Given the description of an element on the screen output the (x, y) to click on. 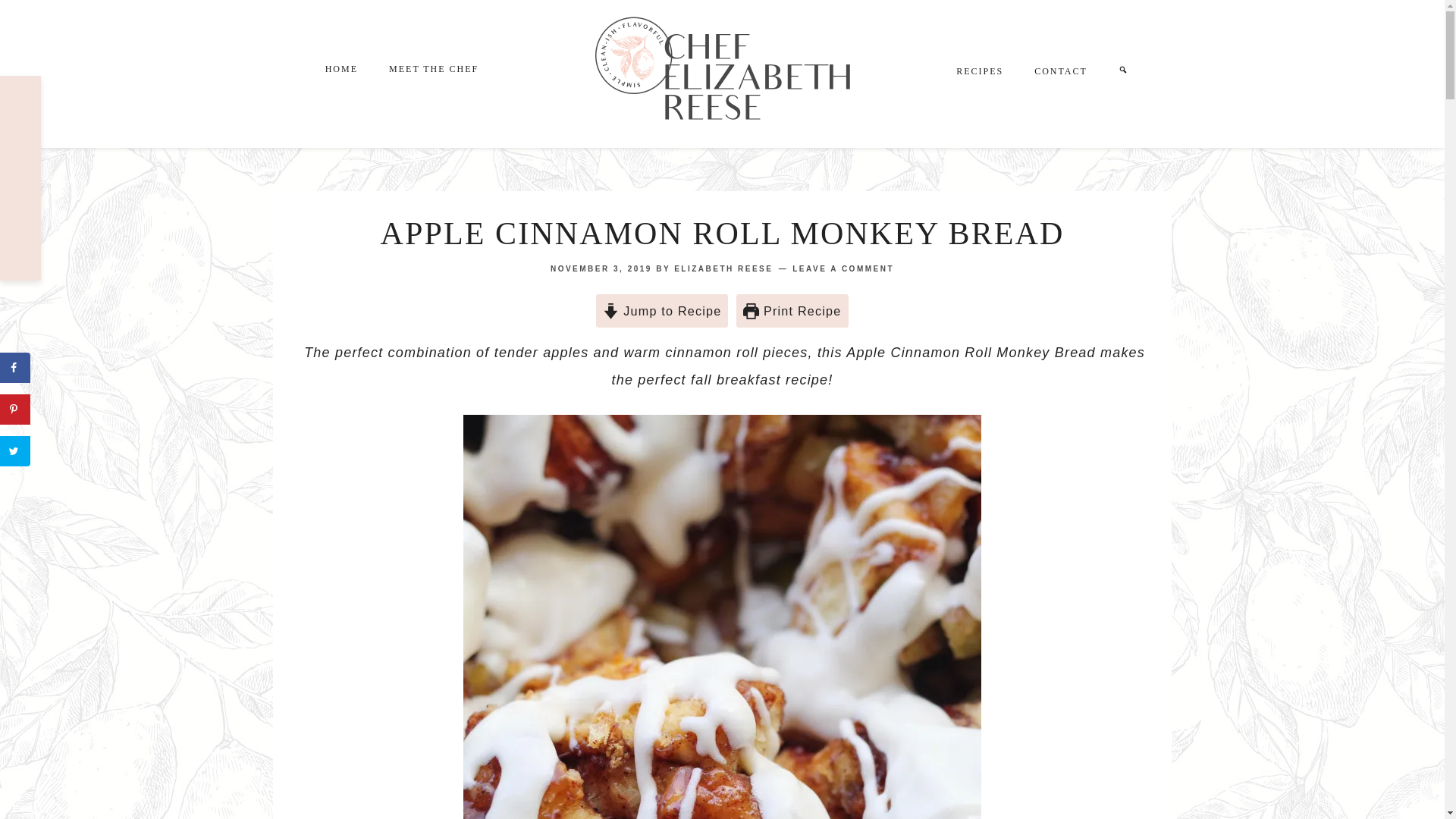
Save to Pinterest (15, 409)
MEET THE CHEF (433, 68)
CHEF ELIZABETH REESE (722, 73)
CONTACT (1060, 70)
HOME (341, 66)
RECIPES (979, 70)
LEAVE A COMMENT (842, 268)
ELIZABETH REESE (723, 268)
Share on Twitter (15, 450)
Share on Facebook (15, 367)
